Given the description of an element on the screen output the (x, y) to click on. 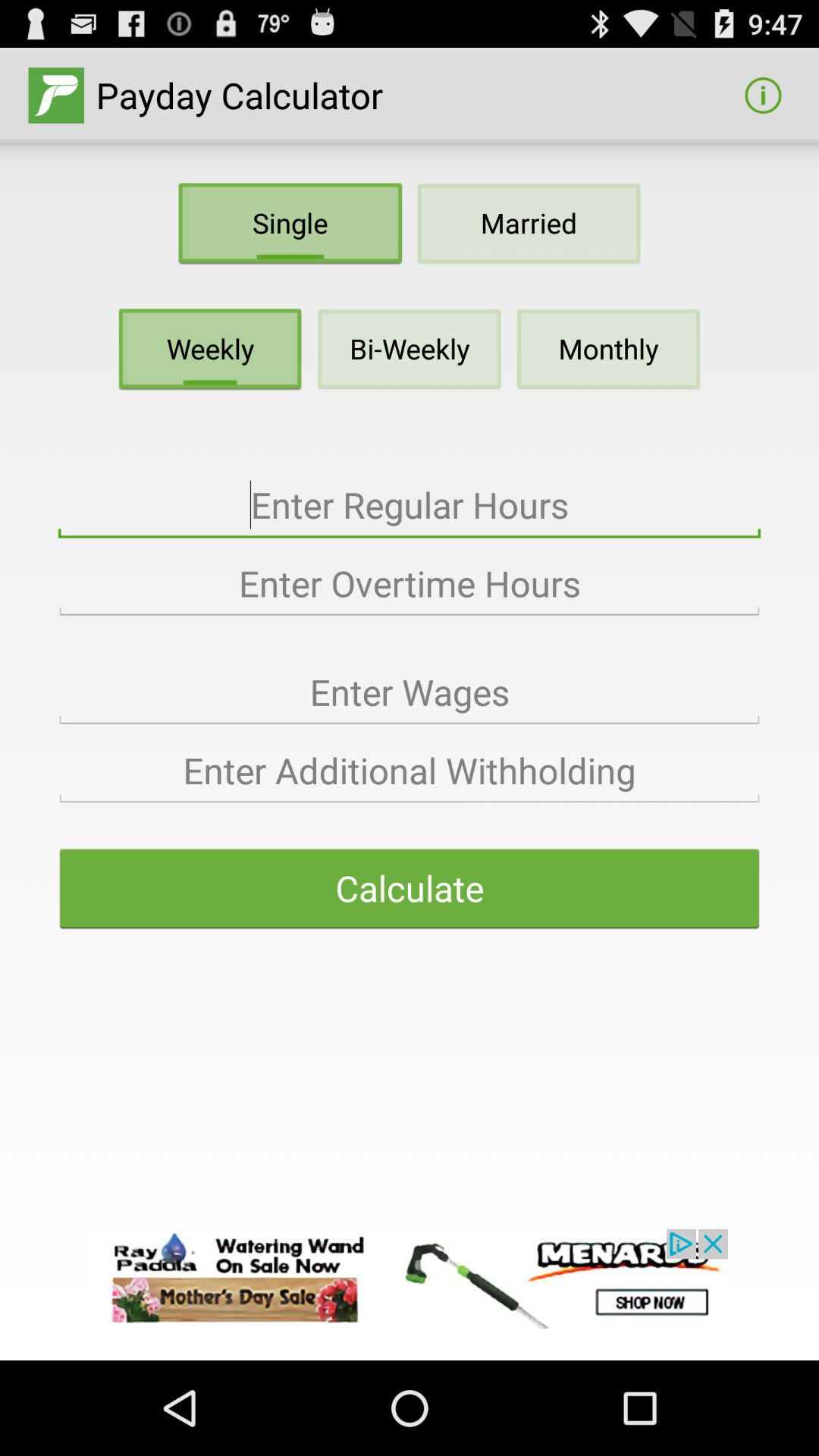
input enter box (409, 692)
